Given the description of an element on the screen output the (x, y) to click on. 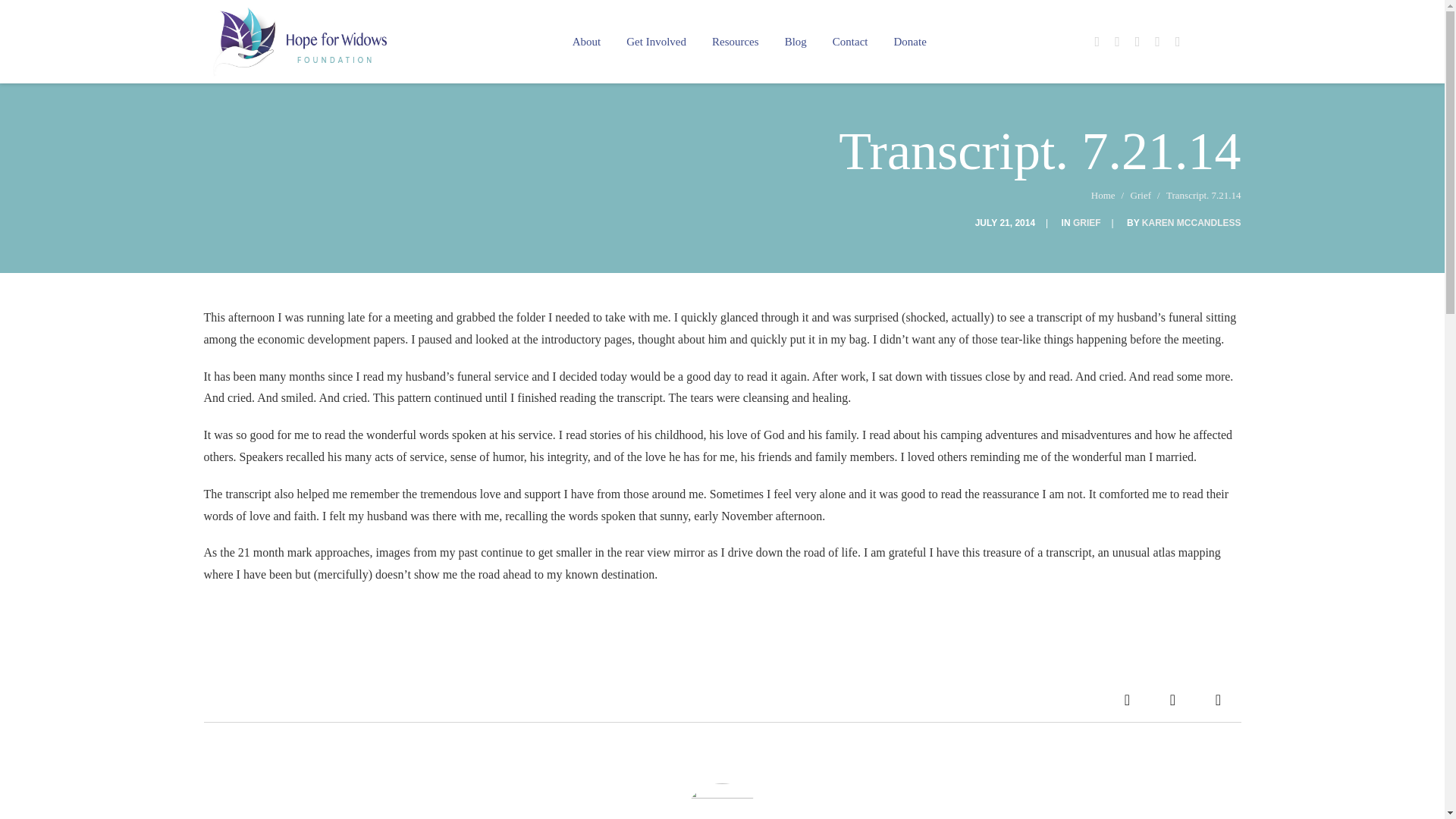
Share this. (1126, 699)
Get Involved (655, 41)
Pin this. (1217, 699)
Tweet this. (1172, 699)
